Given the description of an element on the screen output the (x, y) to click on. 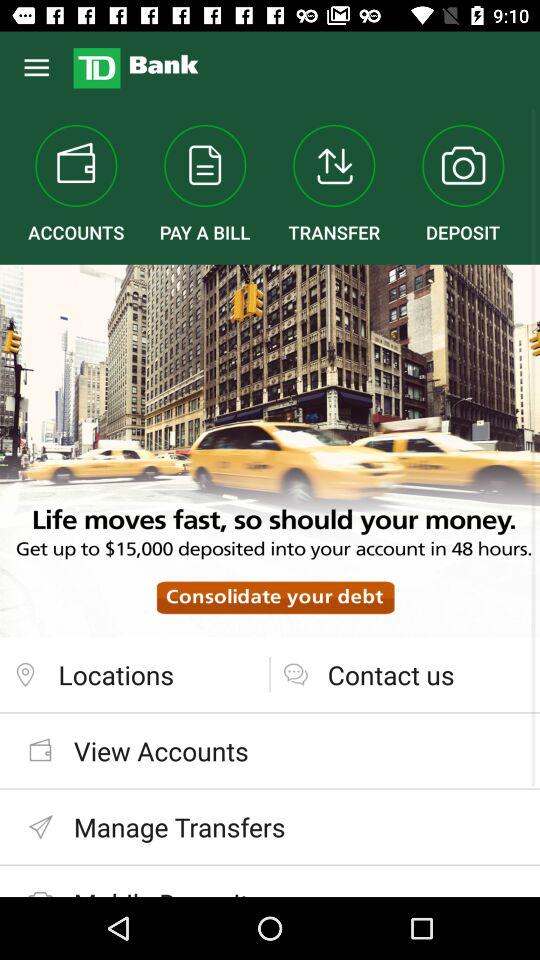
swipe to the contact us item (405, 674)
